Given the description of an element on the screen output the (x, y) to click on. 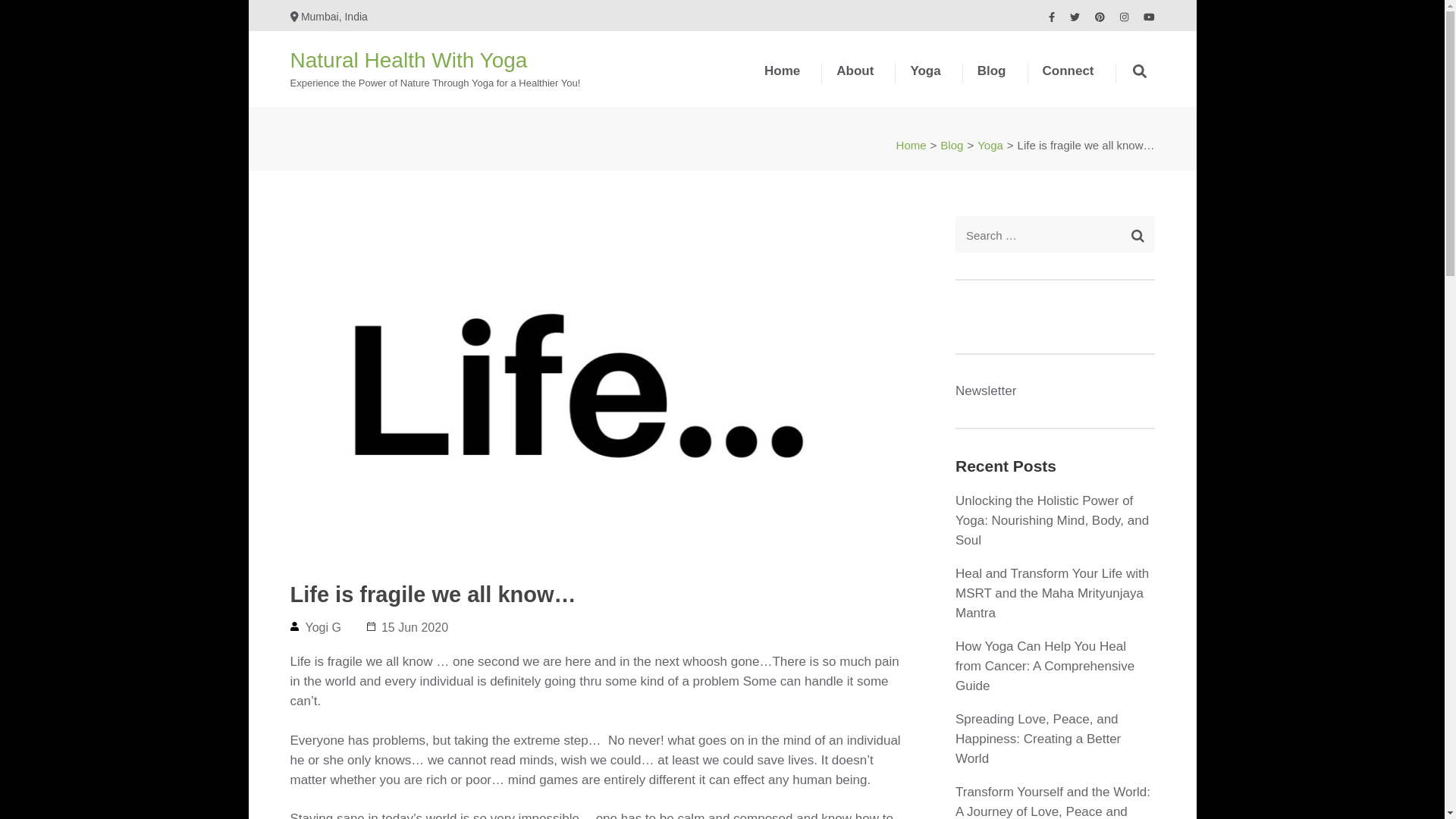
Blog (951, 144)
Facebook (1051, 16)
Instagram (1122, 16)
Youtube (1148, 16)
Yogi G (322, 626)
Natural Health With Yoga (408, 60)
Search (1137, 235)
Pinterest (1099, 16)
Search (1137, 235)
Blog (991, 83)
15 Jun 2020 (414, 626)
